Given the description of an element on the screen output the (x, y) to click on. 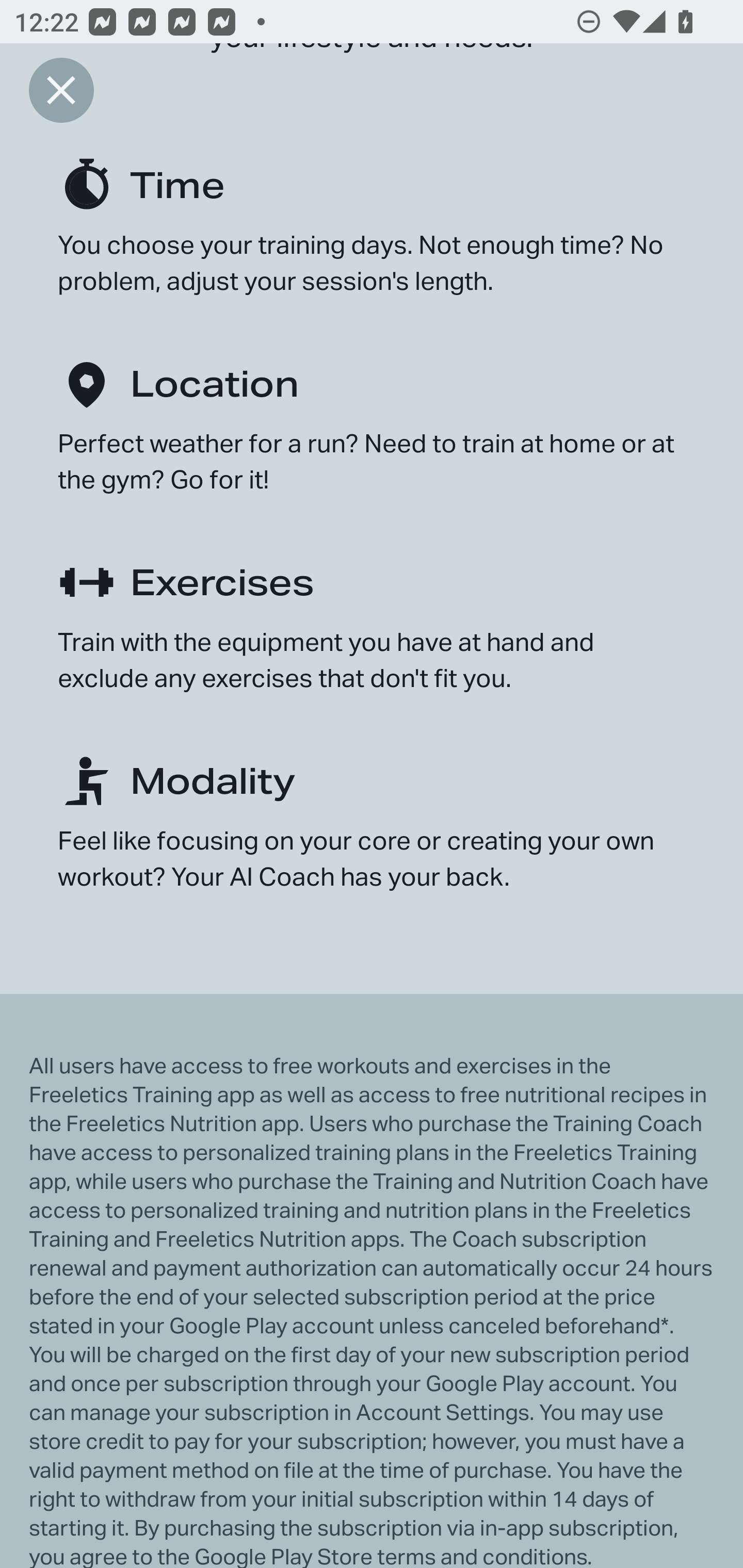
Close (60, 90)
